Given the description of an element on the screen output the (x, y) to click on. 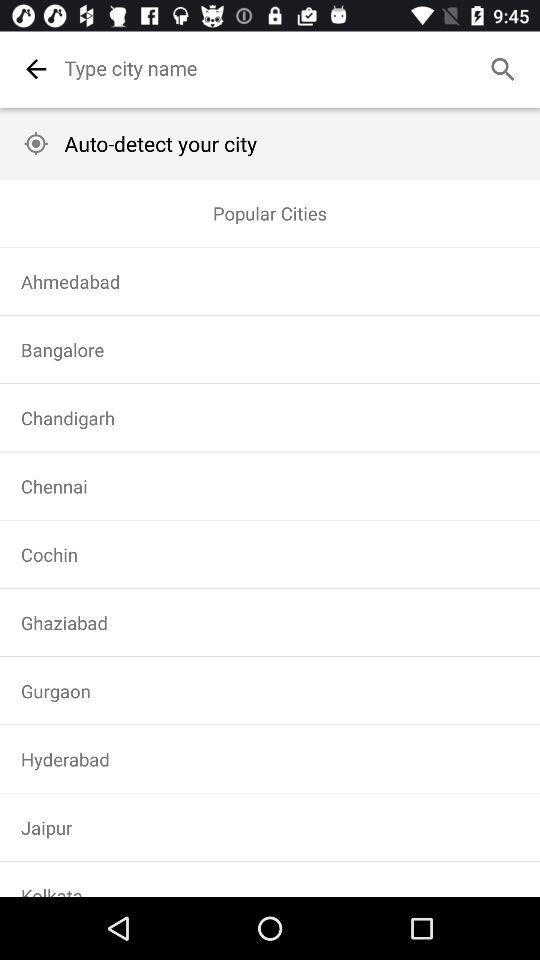
city name search (295, 67)
